Given the description of an element on the screen output the (x, y) to click on. 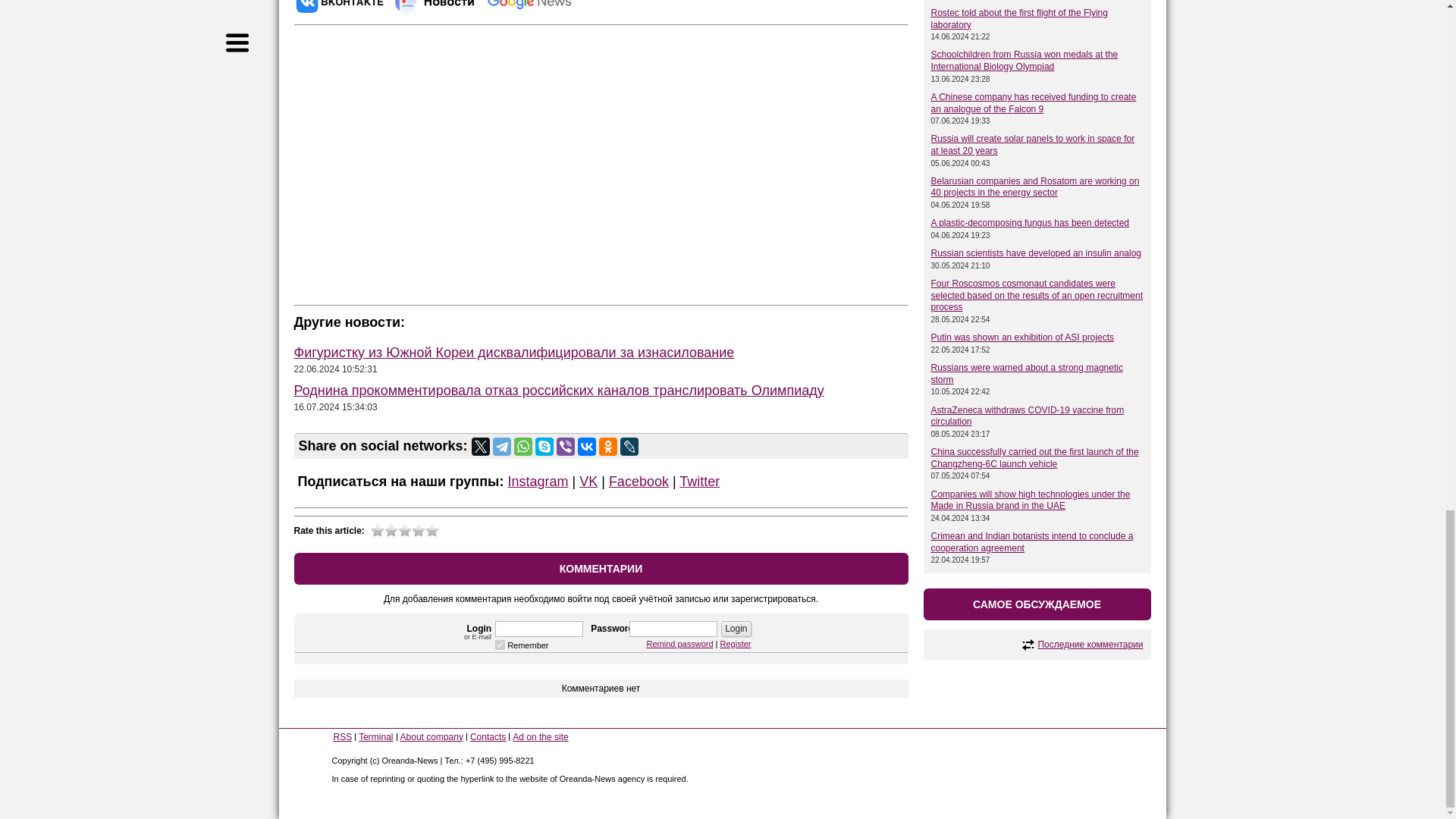
Twitter (480, 446)
Login (735, 627)
Viber (565, 446)
Telegram (502, 446)
WhatsApp (522, 446)
1 (500, 644)
LiveJournal (629, 446)
Skype (544, 446)
